Given the description of an element on the screen output the (x, y) to click on. 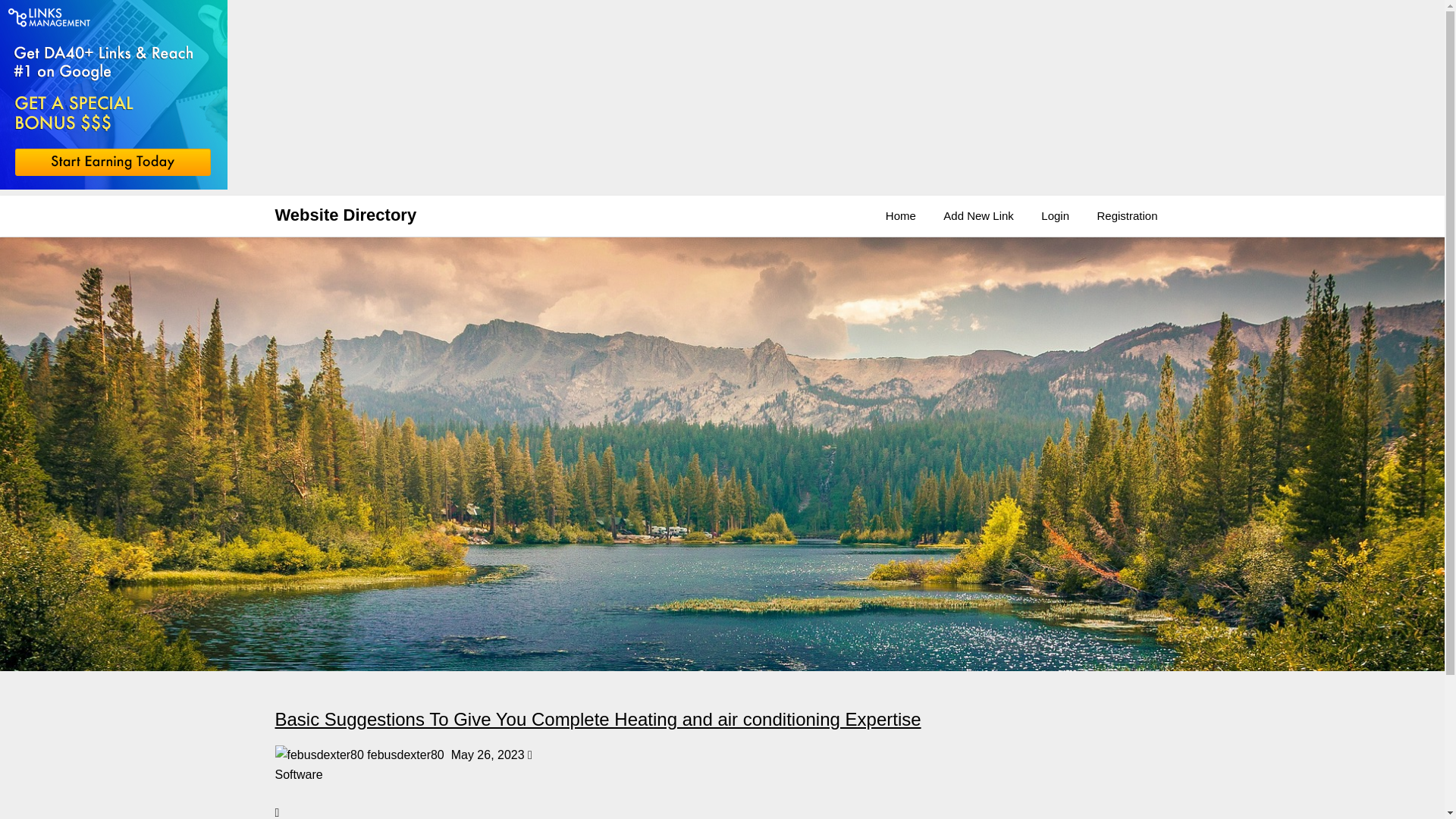
Add New Link (978, 215)
Registration (1126, 215)
Website Directory (345, 215)
febusdexter80 (318, 754)
Home (900, 215)
Login (1055, 215)
